Given the description of an element on the screen output the (x, y) to click on. 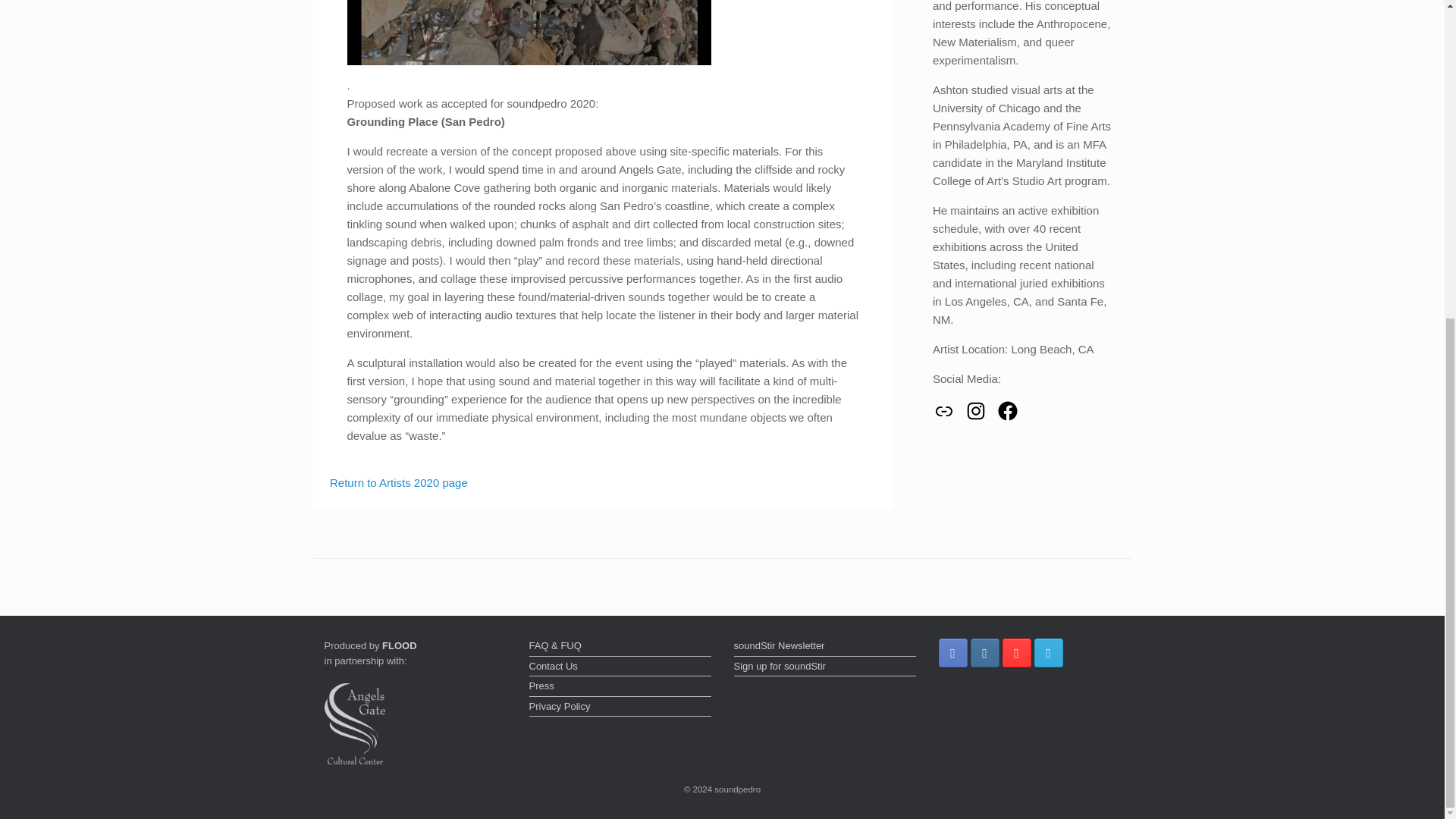
Facebook (1007, 410)
Return to Artists 2020 page (398, 481)
Artist's website (944, 410)
Instagram (975, 410)
FLOOD (398, 645)
soundpedro Facebook (953, 652)
soundpedro Email (1047, 652)
soundpedro YouTube (1016, 652)
Press (620, 687)
Contact Us (620, 668)
soundpedro Instagram (984, 652)
